Given the description of an element on the screen output the (x, y) to click on. 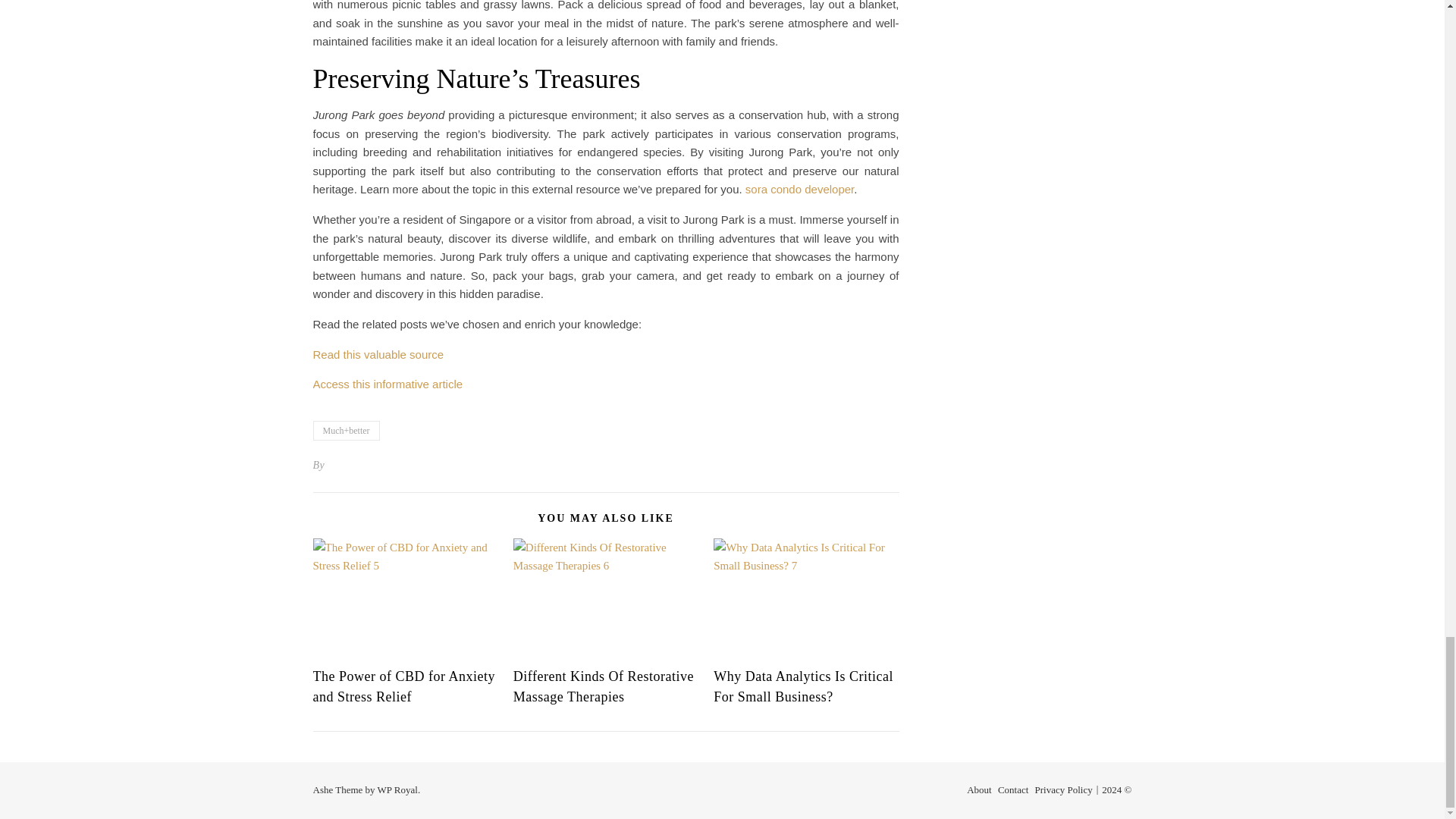
Read this valuable source (378, 354)
sora condo developer (799, 188)
Why Data Analytics Is Critical For Small Business? (803, 686)
The Power of CBD for Anxiety and Stress Relief (404, 686)
Different Kinds Of Restorative Massage Therapies (603, 686)
Contact (1012, 789)
About (978, 789)
Access this informative article (388, 383)
